Given the description of an element on the screen output the (x, y) to click on. 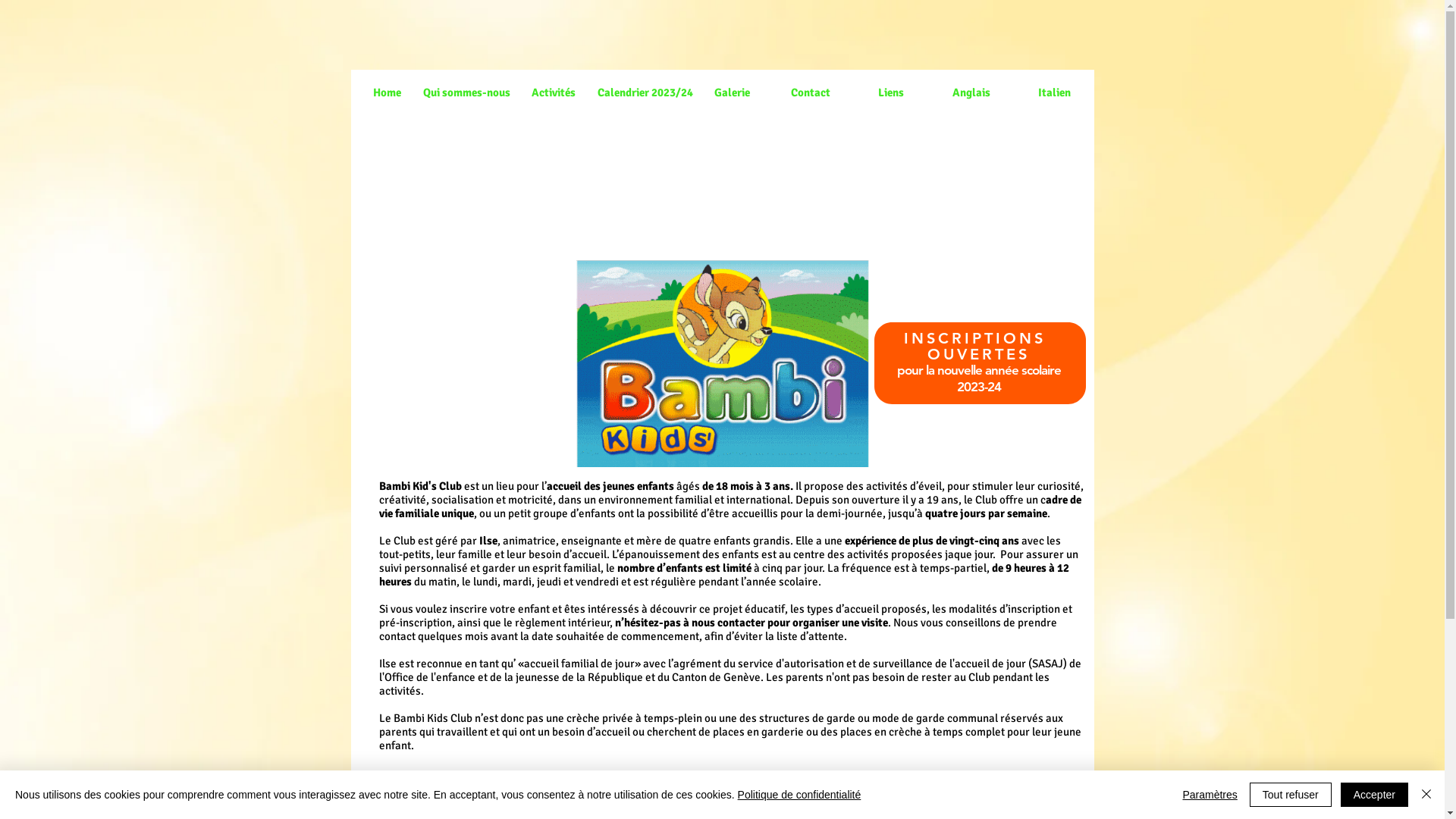
Contactez-nous Element type: text (972, 802)
Qui sommes-nous Element type: text (466, 92)
Liens Element type: text (890, 92)
Galerie Element type: text (732, 92)
Contact Element type: text (810, 92)
Italien Element type: text (1053, 92)
Accepter Element type: text (1374, 794)
Anglais Element type: text (971, 92)
Calendrier 2023/24 Element type: text (645, 92)
Home Element type: text (387, 92)
Tout refuser Element type: text (1290, 794)
Un faon Element type: hover (721, 363)
Calendrier 2023/24 Element type: text (722, 804)
